Given the description of an element on the screen output the (x, y) to click on. 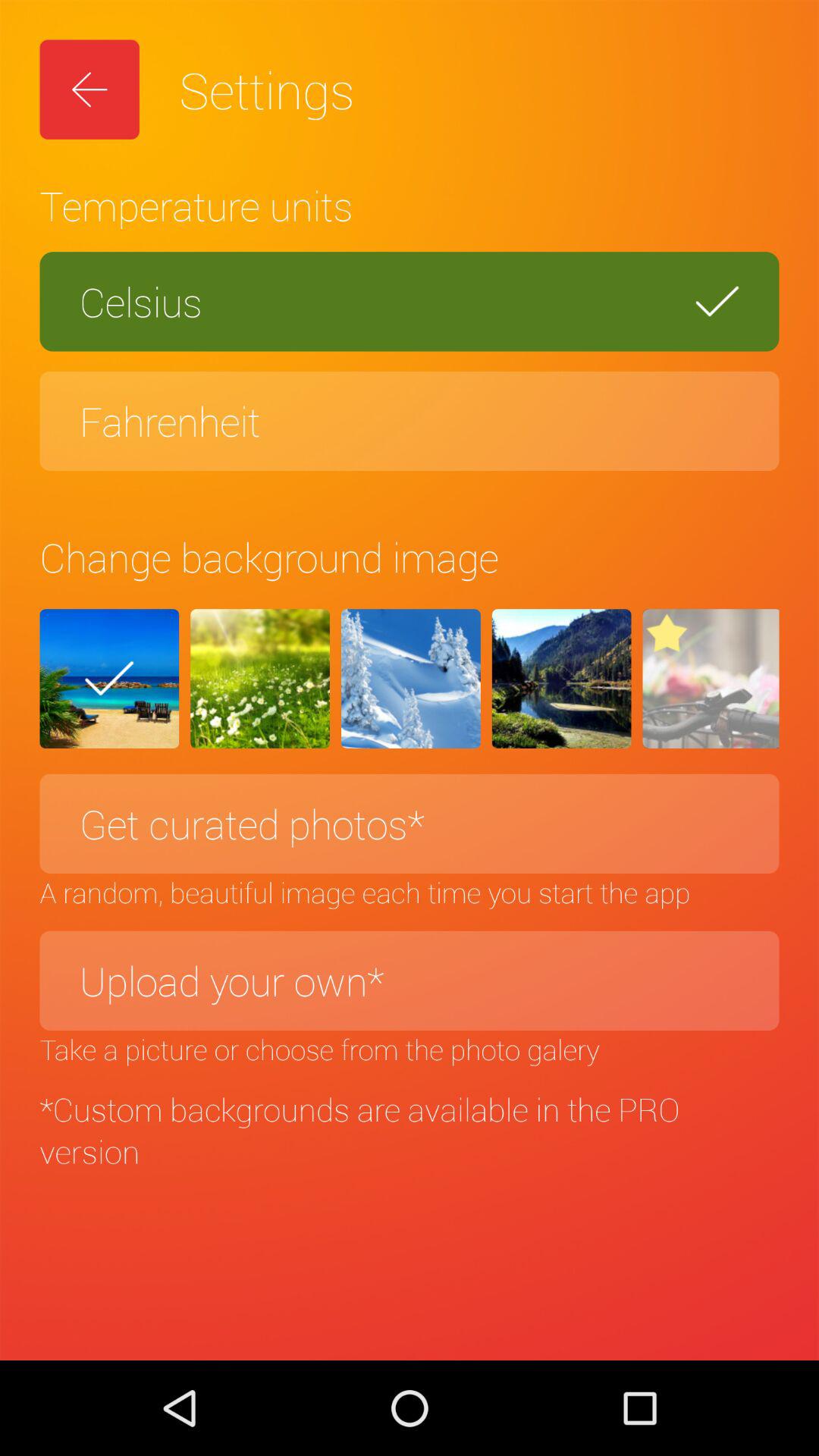
press item to the left of the settings icon (89, 89)
